Given the description of an element on the screen output the (x, y) to click on. 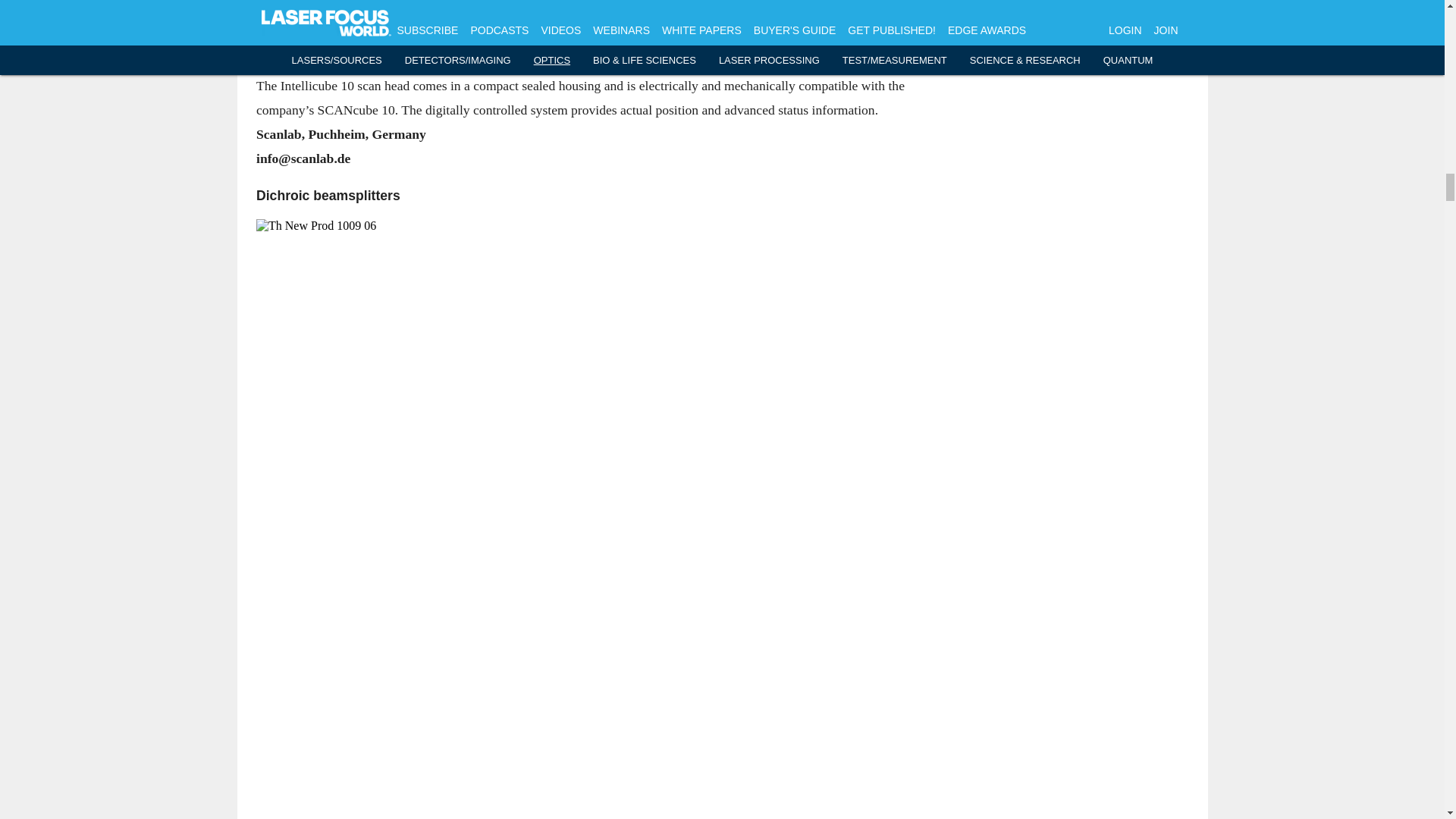
Th New Prod 1009 05 (593, 12)
